Given the description of an element on the screen output the (x, y) to click on. 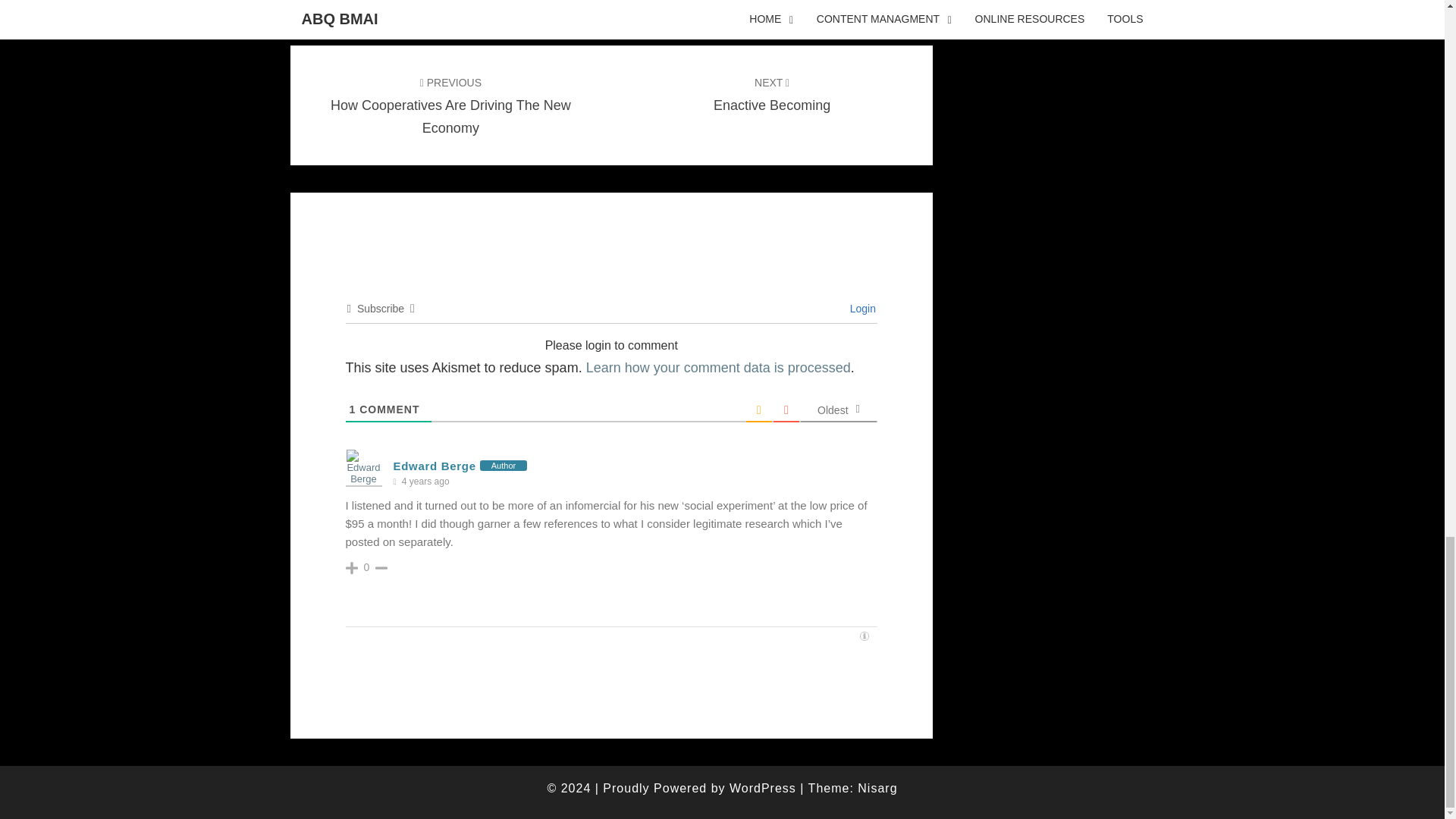
2020-01-24 7:36 am (425, 481)
0 (366, 567)
